Given the description of an element on the screen output the (x, y) to click on. 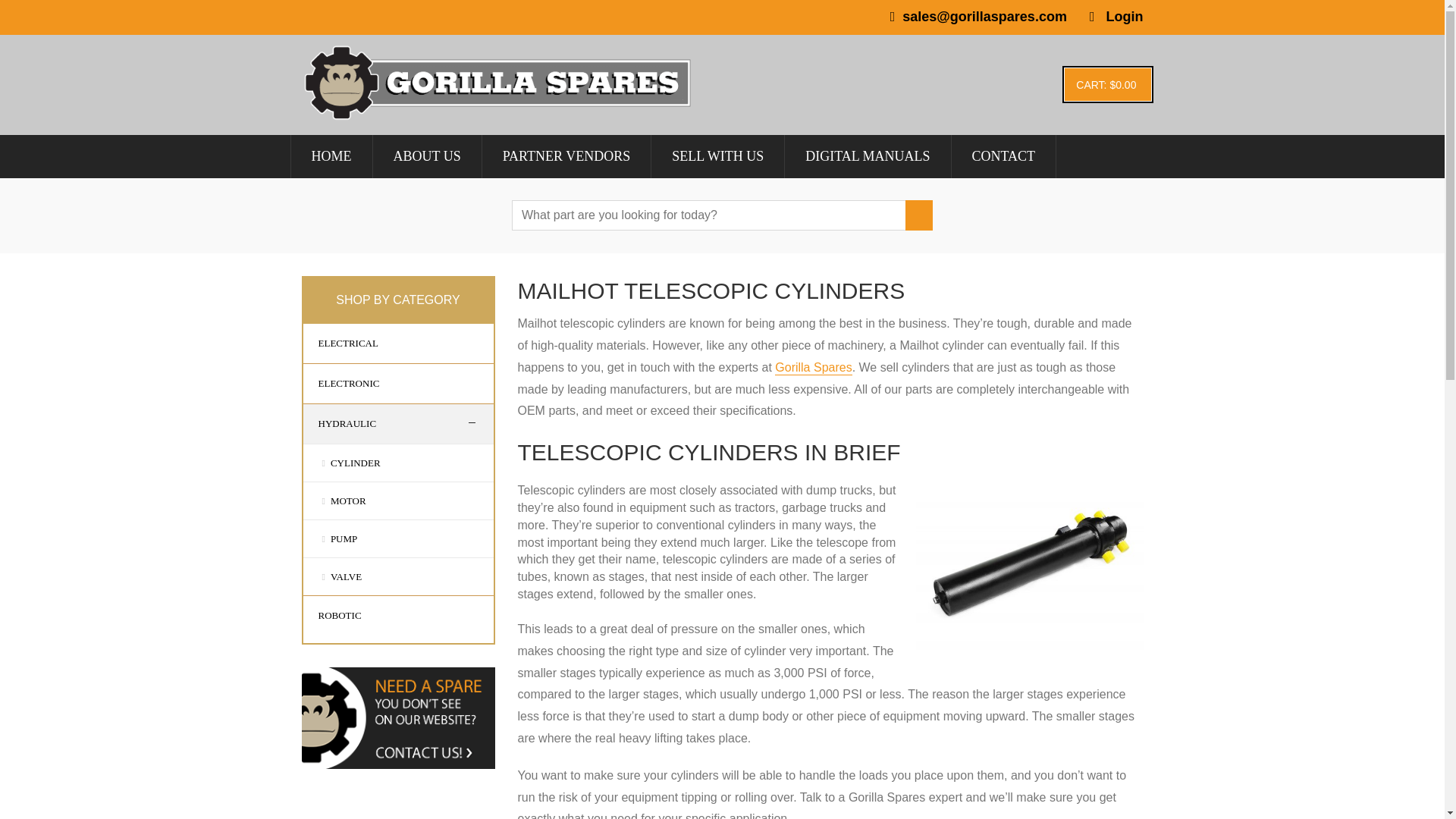
ELECTRONIC (341, 383)
Gorilla Spares (812, 368)
HOME (330, 156)
SELL WITH US (717, 156)
HYDRAULIC (339, 423)
Login (1124, 16)
MOTOR (345, 500)
ROBOTIC (331, 615)
PUMP (340, 538)
VALVE (342, 576)
ABOUT US (425, 156)
PARTNER VENDORS (565, 156)
ELECTRICAL (340, 343)
CONTACT (1003, 156)
CYLINDER (352, 462)
